Given the description of an element on the screen output the (x, y) to click on. 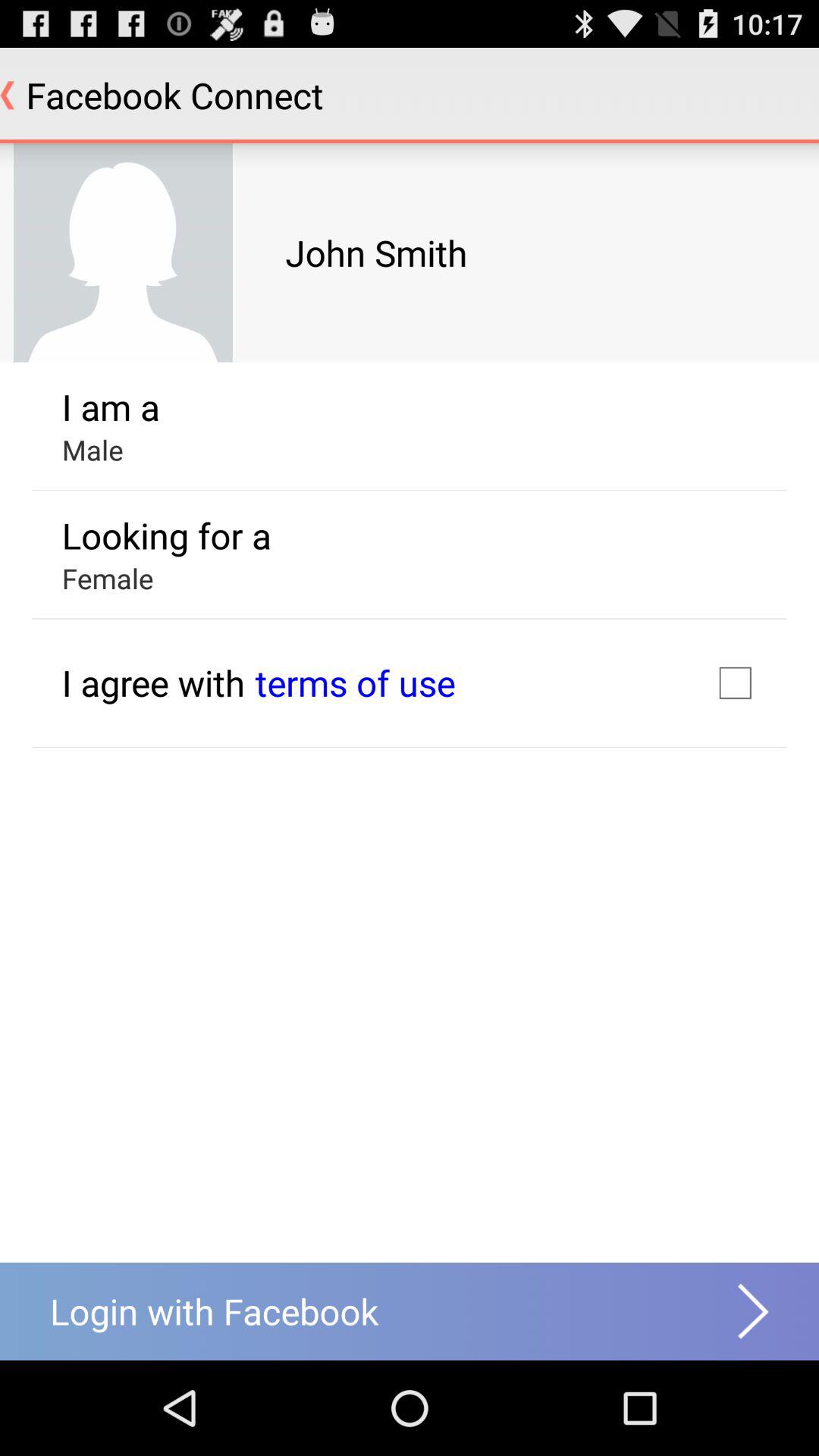
click i agree with (153, 682)
